Given the description of an element on the screen output the (x, y) to click on. 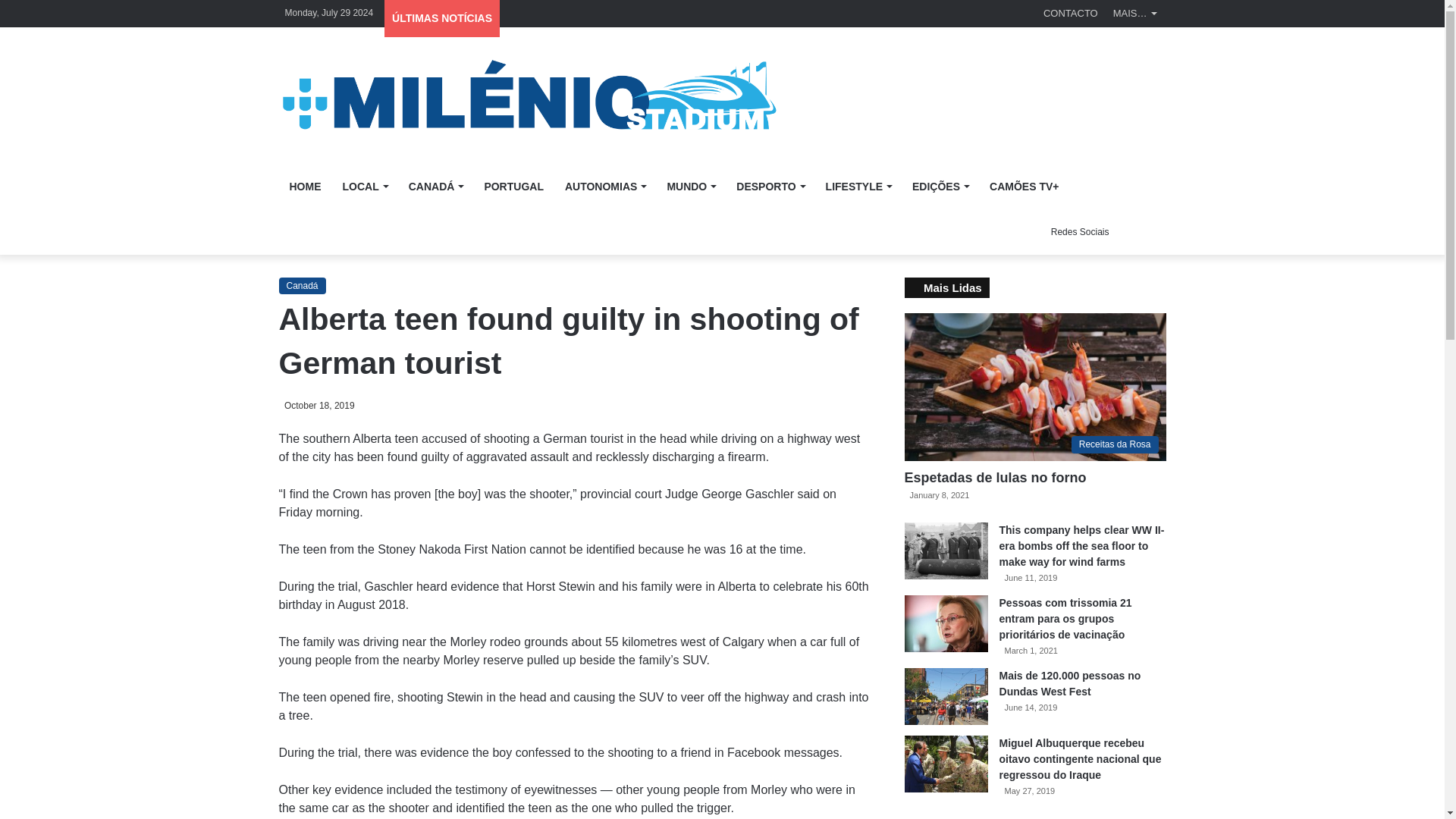
Milenio Stadium (528, 95)
LOCAL (364, 186)
CONTACTO (1070, 13)
DESPORTO (769, 186)
MUNDO (690, 186)
HOME (305, 186)
PORTUGAL (513, 186)
AUTONOMIAS (605, 186)
